Given the description of an element on the screen output the (x, y) to click on. 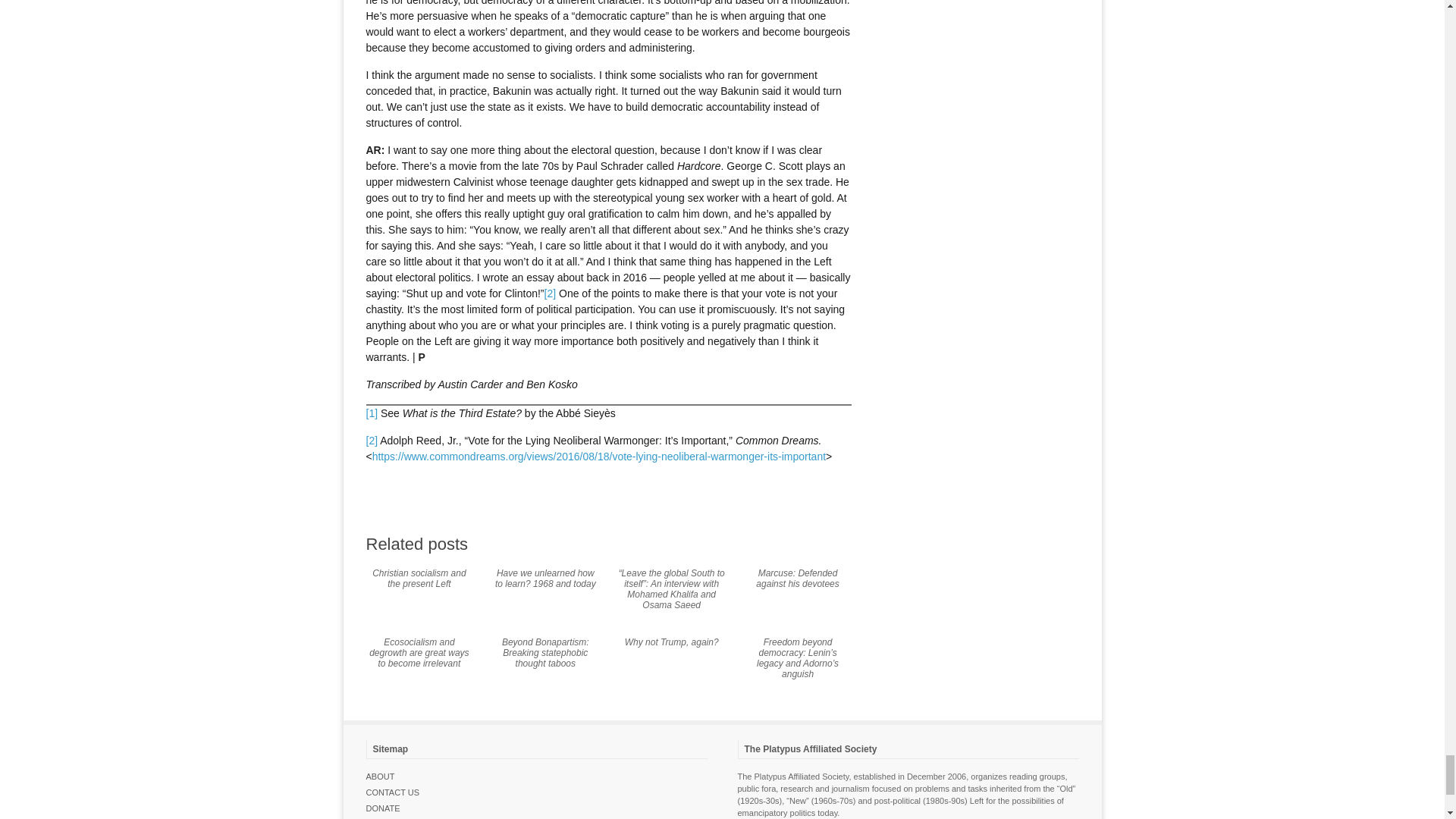
Why not Trump, again? (671, 642)
ABOUT (379, 776)
Beyond Bonapartism: Breaking statephobic thought taboos (545, 653)
Marcuse: Defended against his devotees (796, 578)
CONTACT US (392, 791)
Christian socialism and the present Left (418, 578)
Have we unlearned how to learn? 1968 and today (545, 578)
DONATE (381, 808)
